Given the description of an element on the screen output the (x, y) to click on. 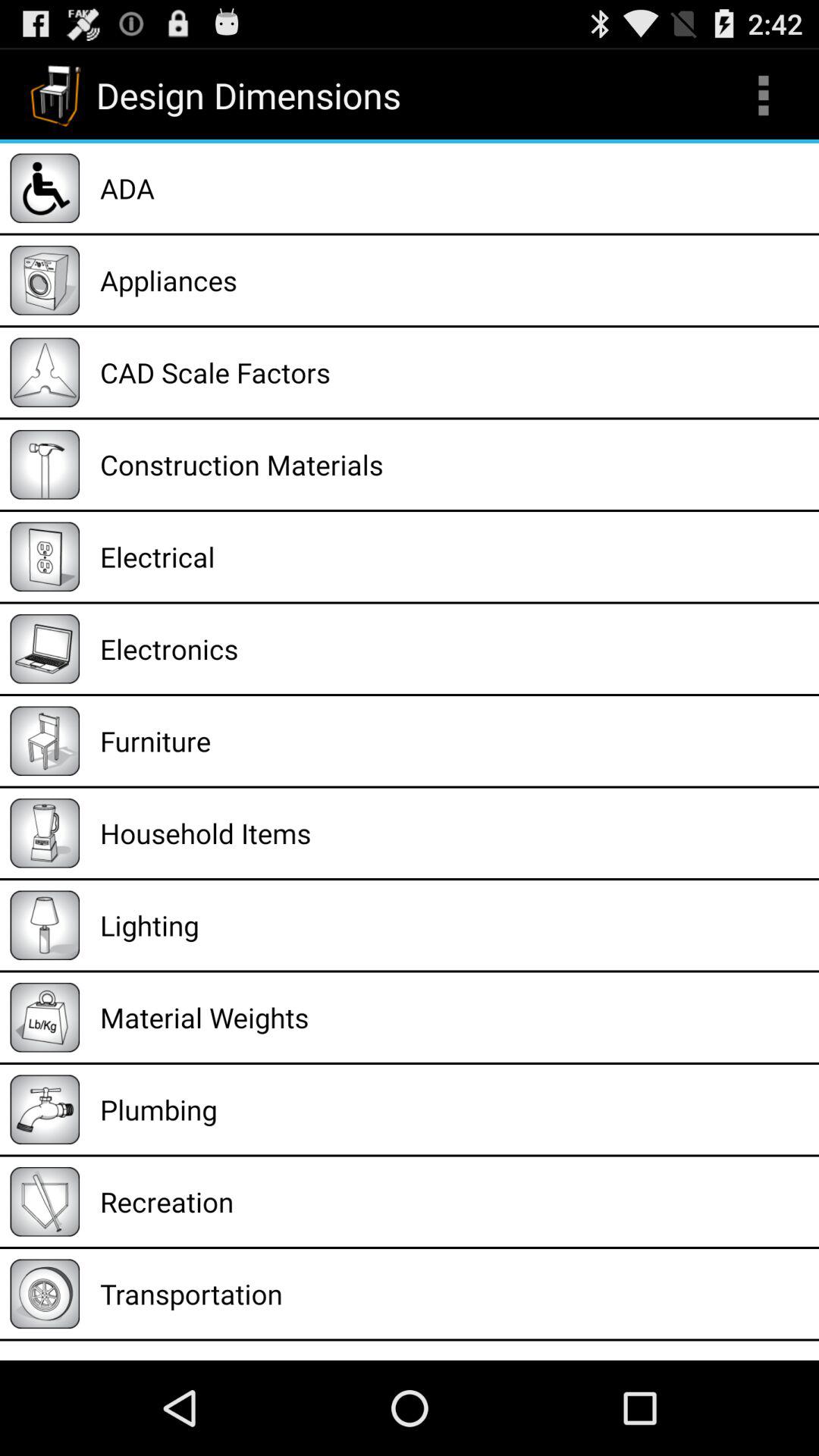
scroll to appliances (454, 280)
